Given the description of an element on the screen output the (x, y) to click on. 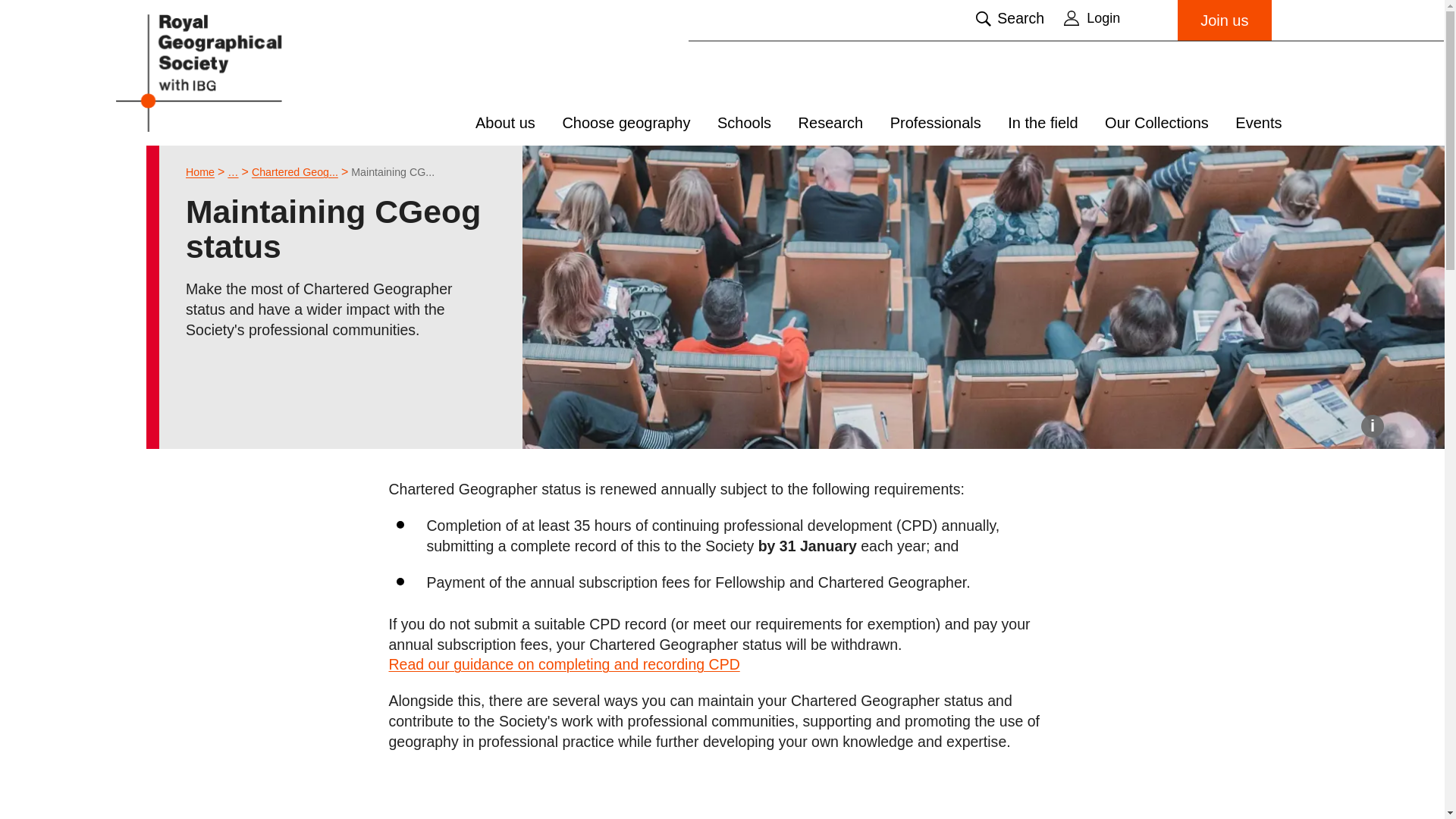
Login (1112, 17)
Chartered Geographer (294, 172)
Royal Geographical Society (236, 72)
Research (830, 122)
Maintaining CGeog status and promoting the profession (391, 172)
About us (505, 122)
Home (200, 172)
Search (1009, 18)
Professionals (232, 172)
Schools (744, 122)
Choose geography (626, 122)
